Given the description of an element on the screen output the (x, y) to click on. 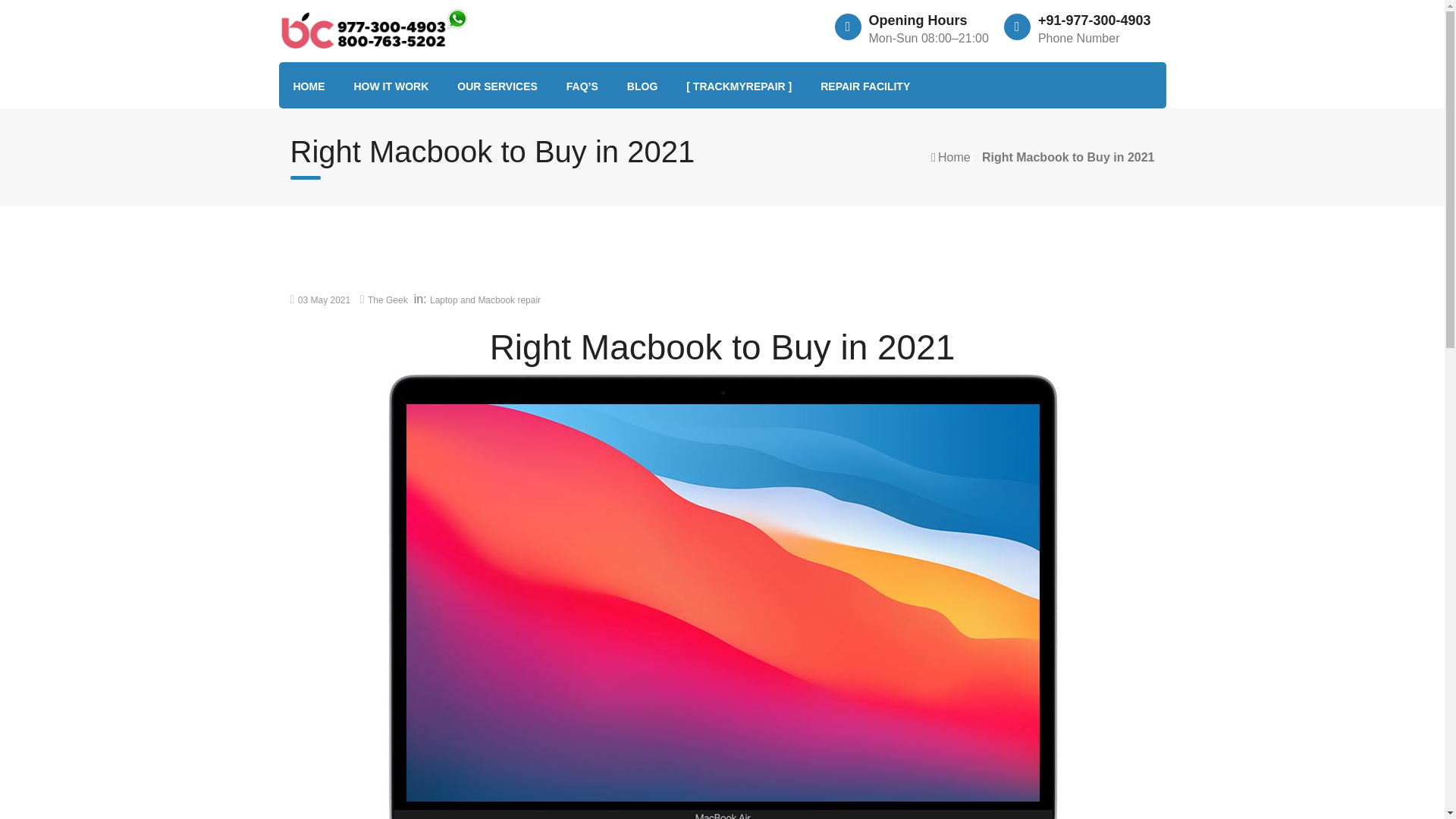
Home (954, 156)
BLOG (641, 86)
Laptop and Macbook repair (484, 299)
Track The Repair Status (738, 86)
HOME (308, 86)
The Geek (387, 299)
FAQS (582, 86)
Home Page (308, 86)
Contact Us (390, 86)
Techies Of Mumbai (641, 86)
